Given the description of an element on the screen output the (x, y) to click on. 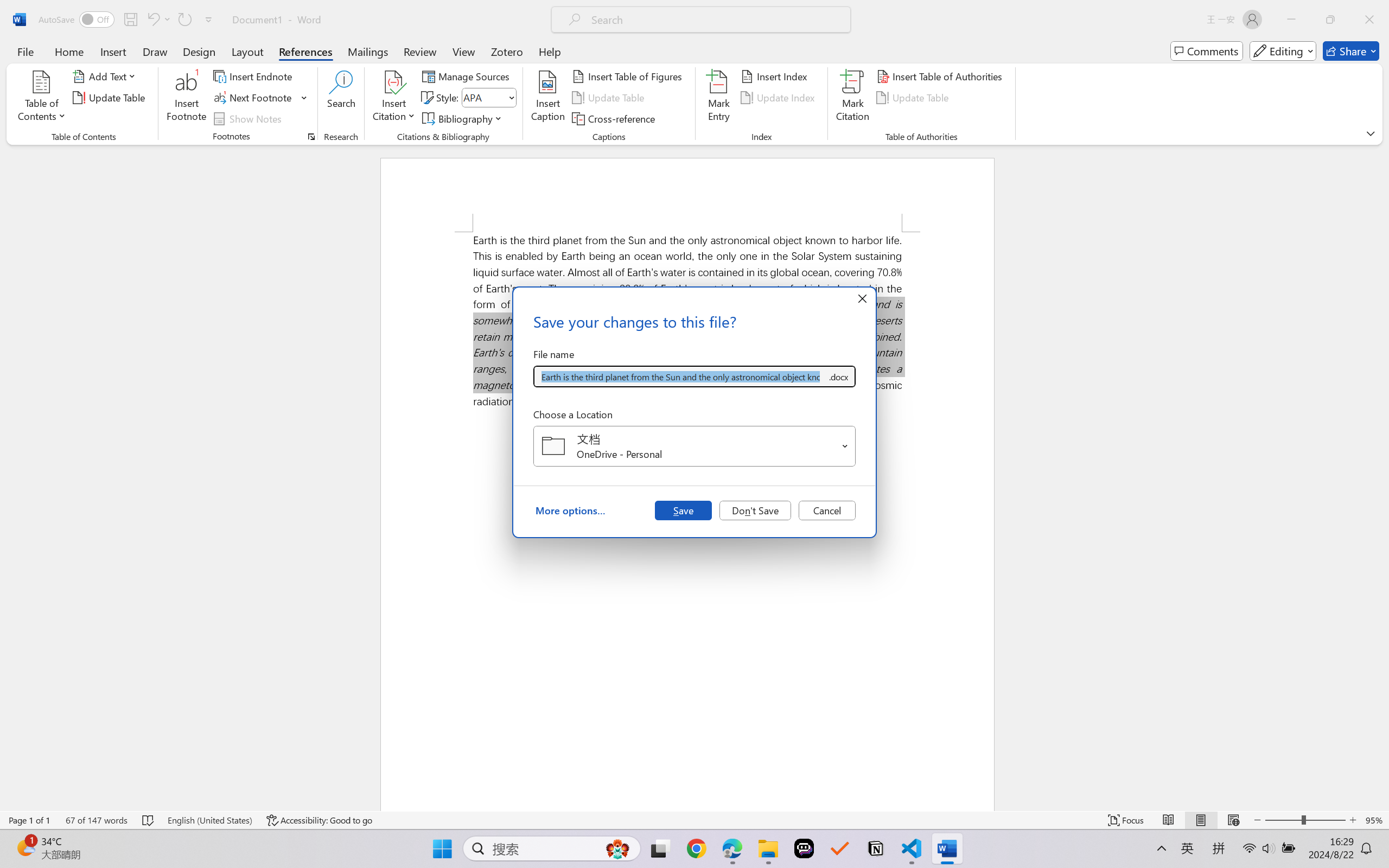
Show Notes (248, 118)
Class: MsoCommandBar (694, 819)
Table of Contents (42, 97)
Don't Save (755, 509)
Help (549, 51)
Manage Sources... (467, 75)
Poe (804, 848)
